Given the description of an element on the screen output the (x, y) to click on. 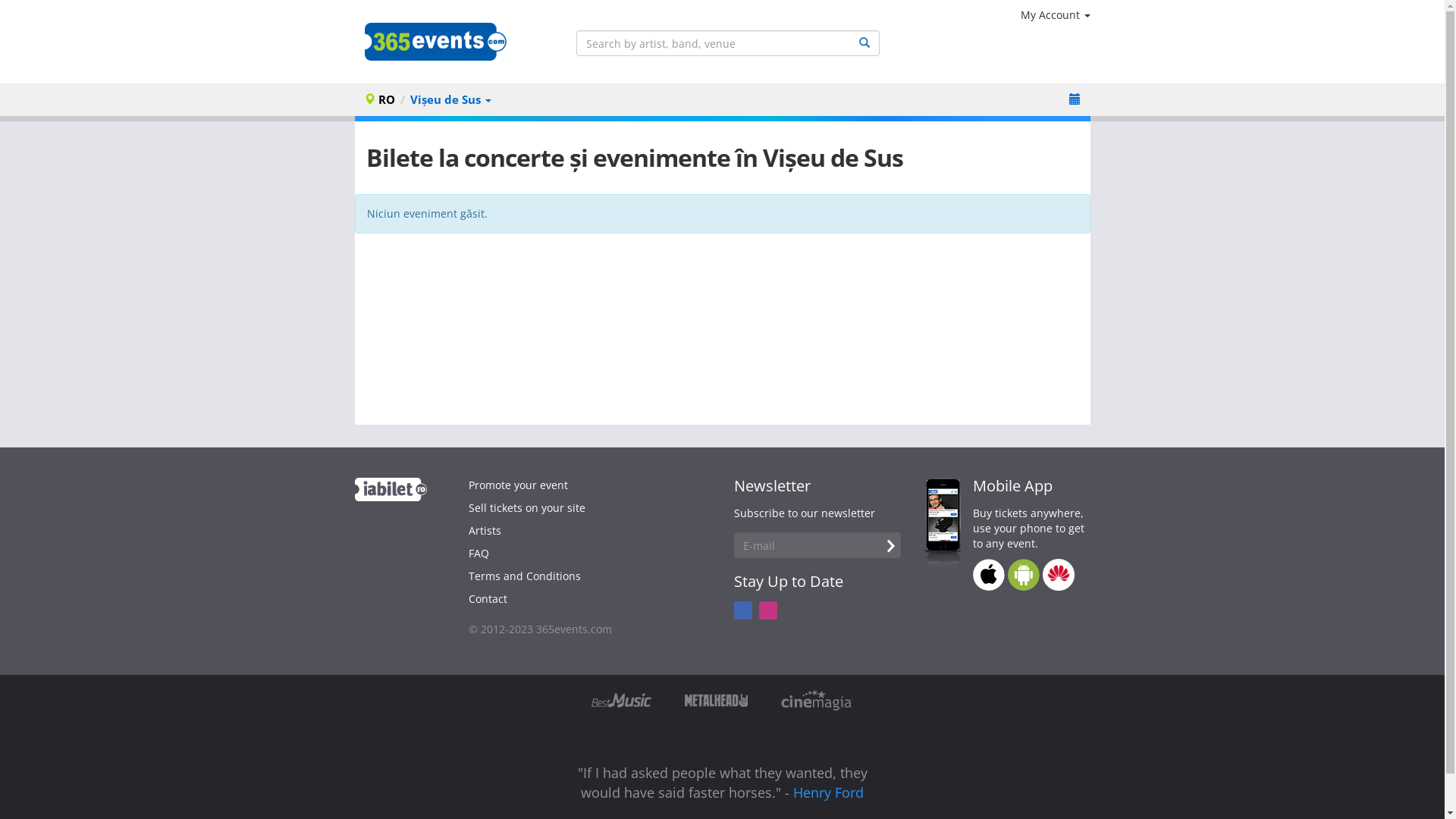
Henry Ford Element type: text (828, 792)
Promote your event Element type: text (517, 484)
Terms and Conditions Element type: text (524, 575)
Contact Element type: text (487, 598)
FAQ Element type: text (478, 553)
Sell tickets on your site Element type: text (526, 507)
Artists Element type: text (484, 530)
